Given the description of an element on the screen output the (x, y) to click on. 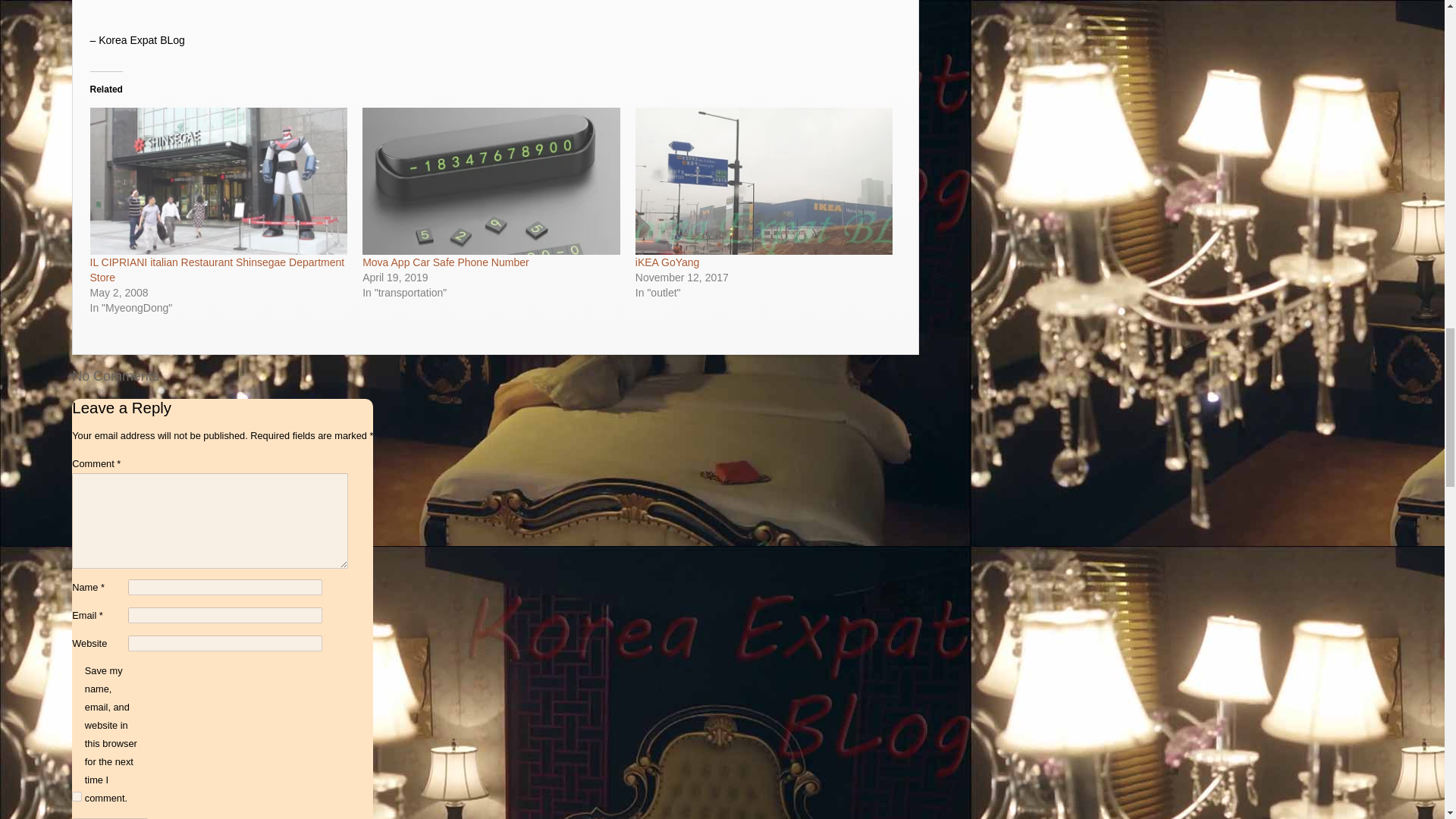
Mova App Car Safe Phone Number (445, 262)
IL CIPRIANI italian Restaurant Shinsegae Department Store (217, 269)
Mova App Car Safe Phone Number (491, 180)
yes (76, 796)
iKEA GoYang (667, 262)
iKEA GoYang (763, 180)
IL CIPRIANI italian Restaurant Shinsegae Department Store (218, 180)
